Given the description of an element on the screen output the (x, y) to click on. 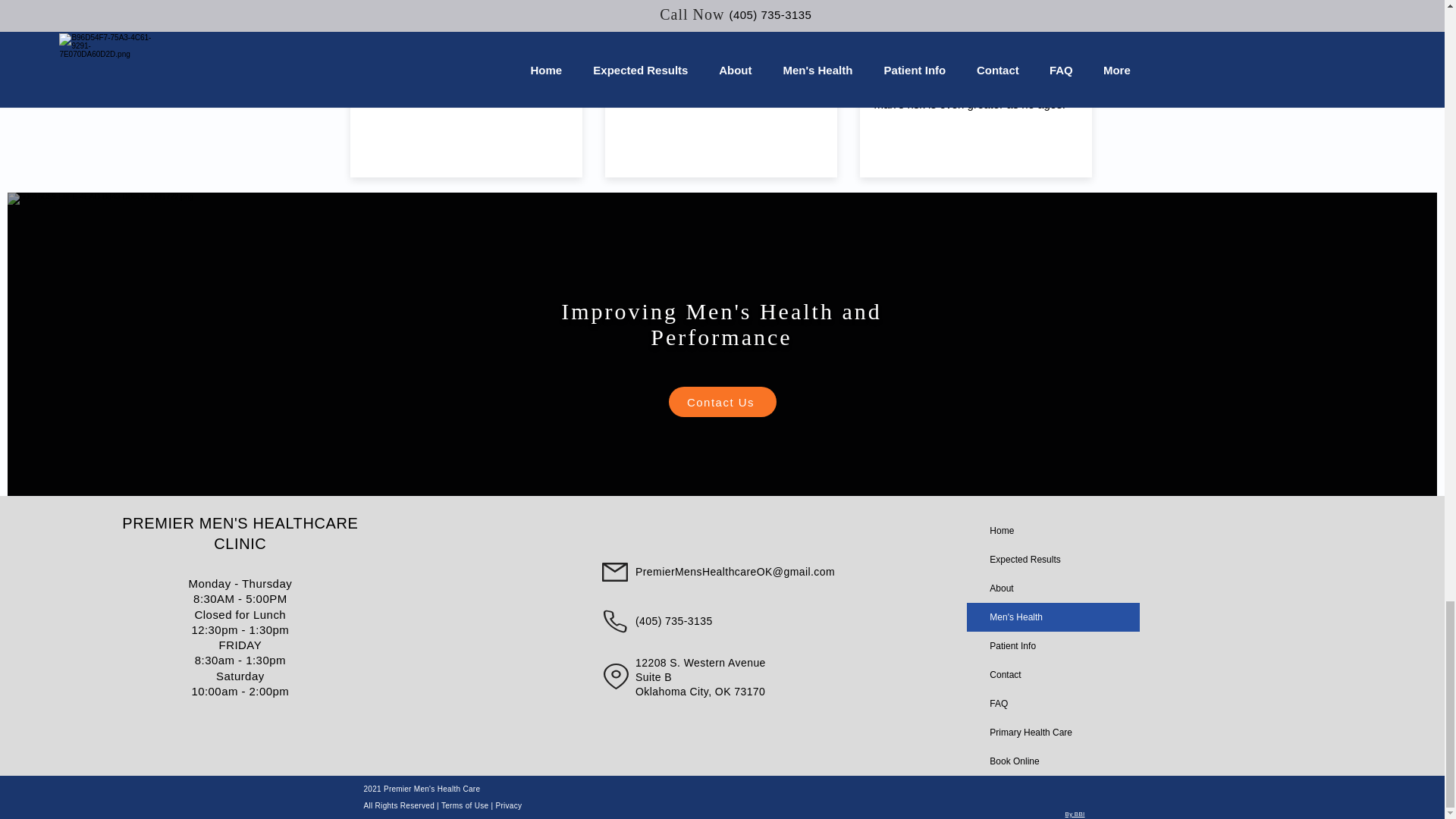
Home (1053, 530)
Men's Health (1053, 616)
Contact Us (722, 401)
